Given the description of an element on the screen output the (x, y) to click on. 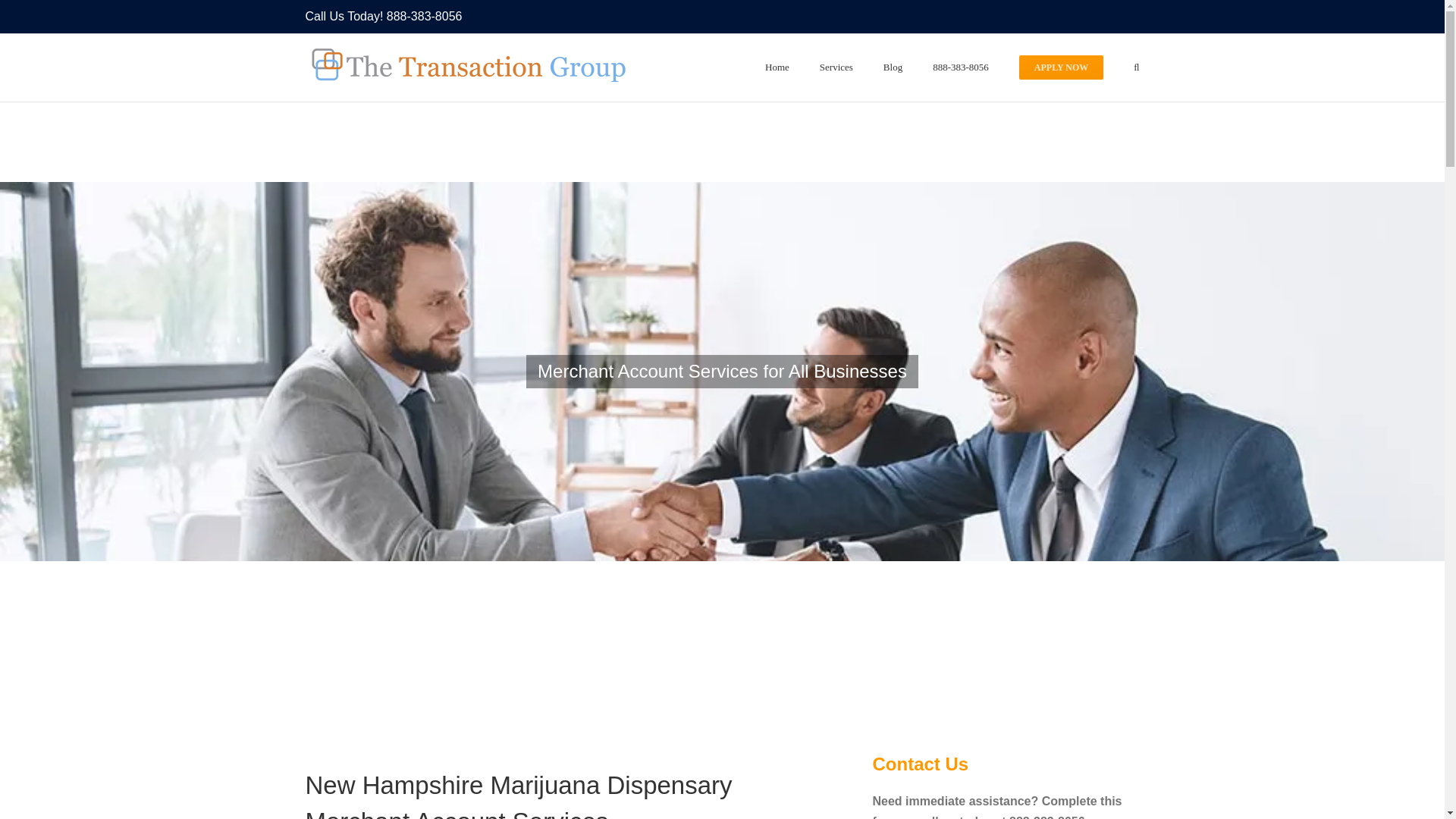
888-383-8056 (425, 15)
APPLY NOW (1061, 65)
